Given the description of an element on the screen output the (x, y) to click on. 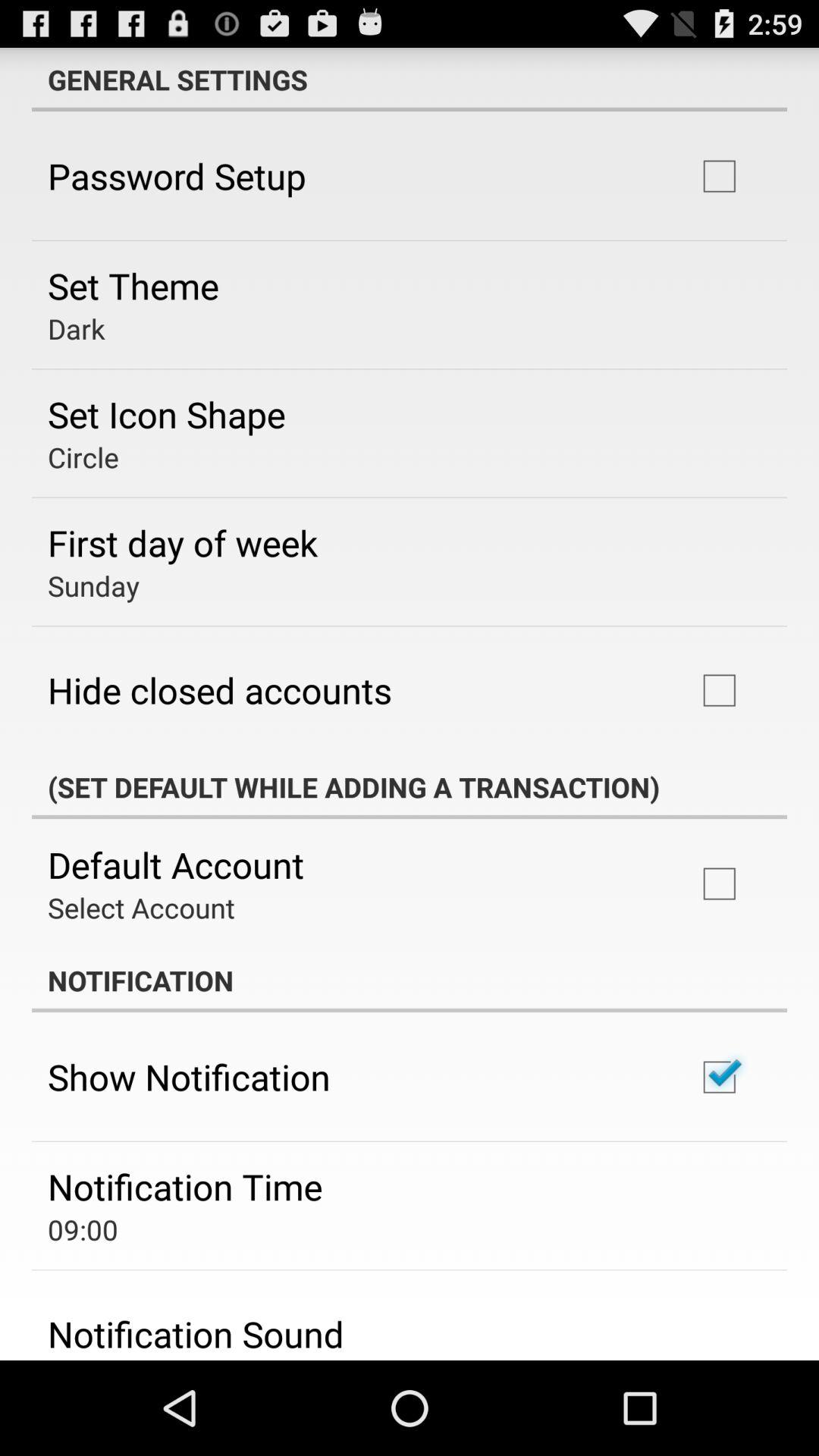
turn off app above the set theme item (176, 175)
